Given the description of an element on the screen output the (x, y) to click on. 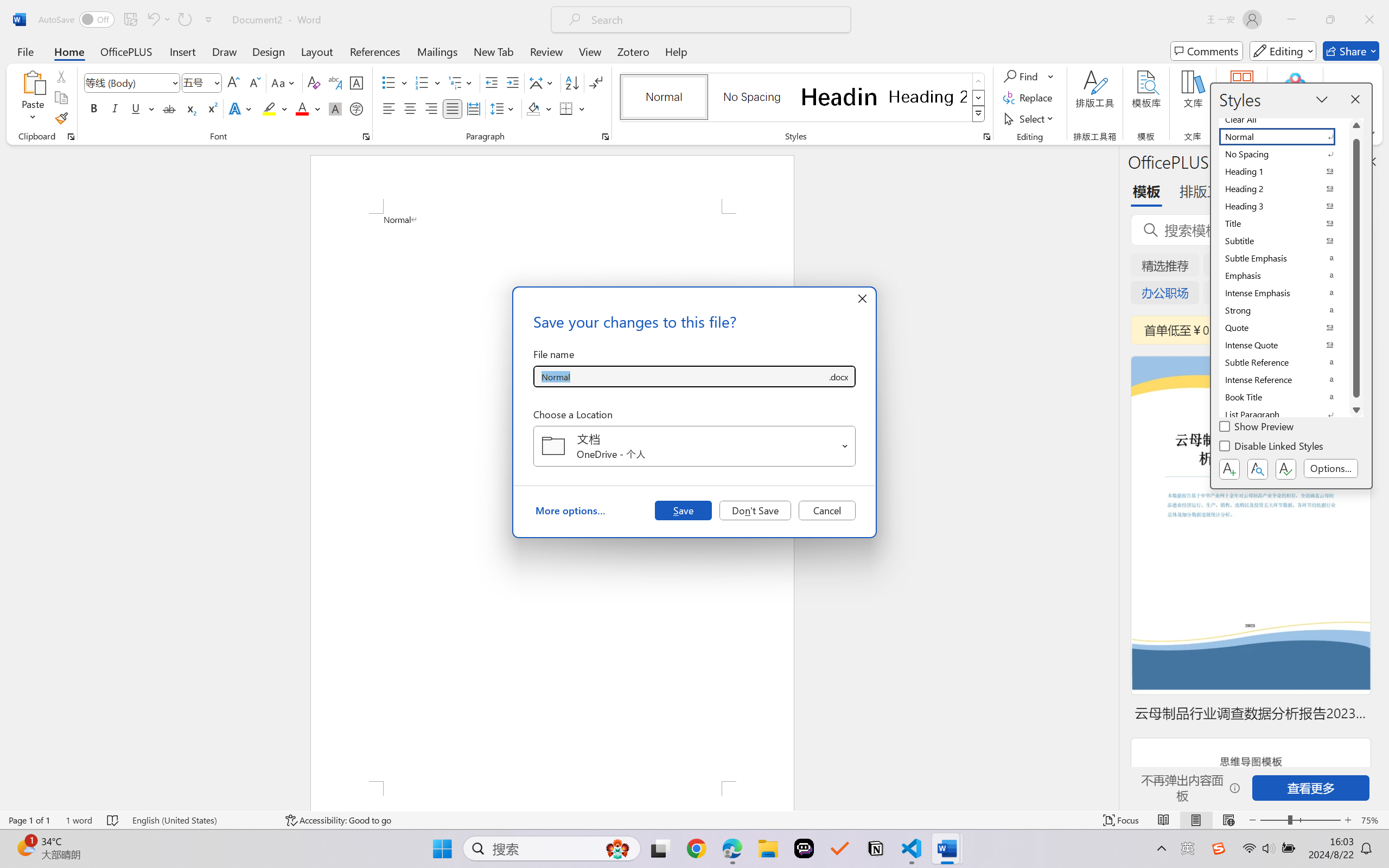
Undo Apply Quick Style (158, 19)
AutoSave (76, 19)
Row Down (978, 97)
Subtle Emphasis (1283, 258)
Layout (316, 51)
Shading (539, 108)
Customize Quick Access Toolbar (208, 19)
Paste (33, 97)
OfficePLUS (126, 51)
Intense Reference (1283, 379)
Font Size (196, 82)
Google Chrome (696, 848)
Cancel (826, 509)
